Given the description of an element on the screen output the (x, y) to click on. 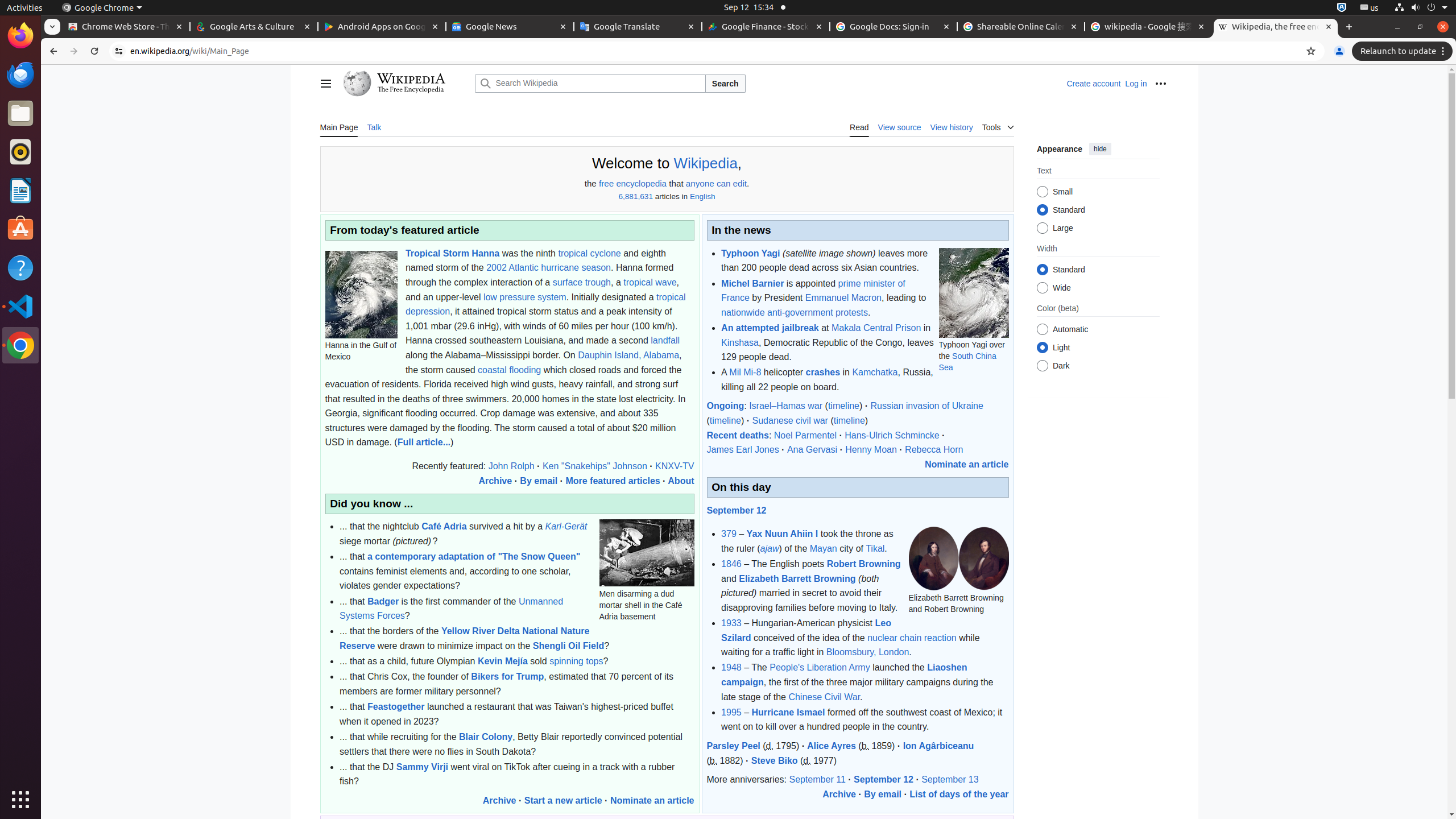
timeline Element type: link (843, 405)
Sammy Virji Element type: link (421, 766)
Leo Szilard Element type: link (806, 630)
Kamchatka Element type: link (874, 372)
Mil Mi-8 Element type: link (745, 372)
